Given the description of an element on the screen output the (x, y) to click on. 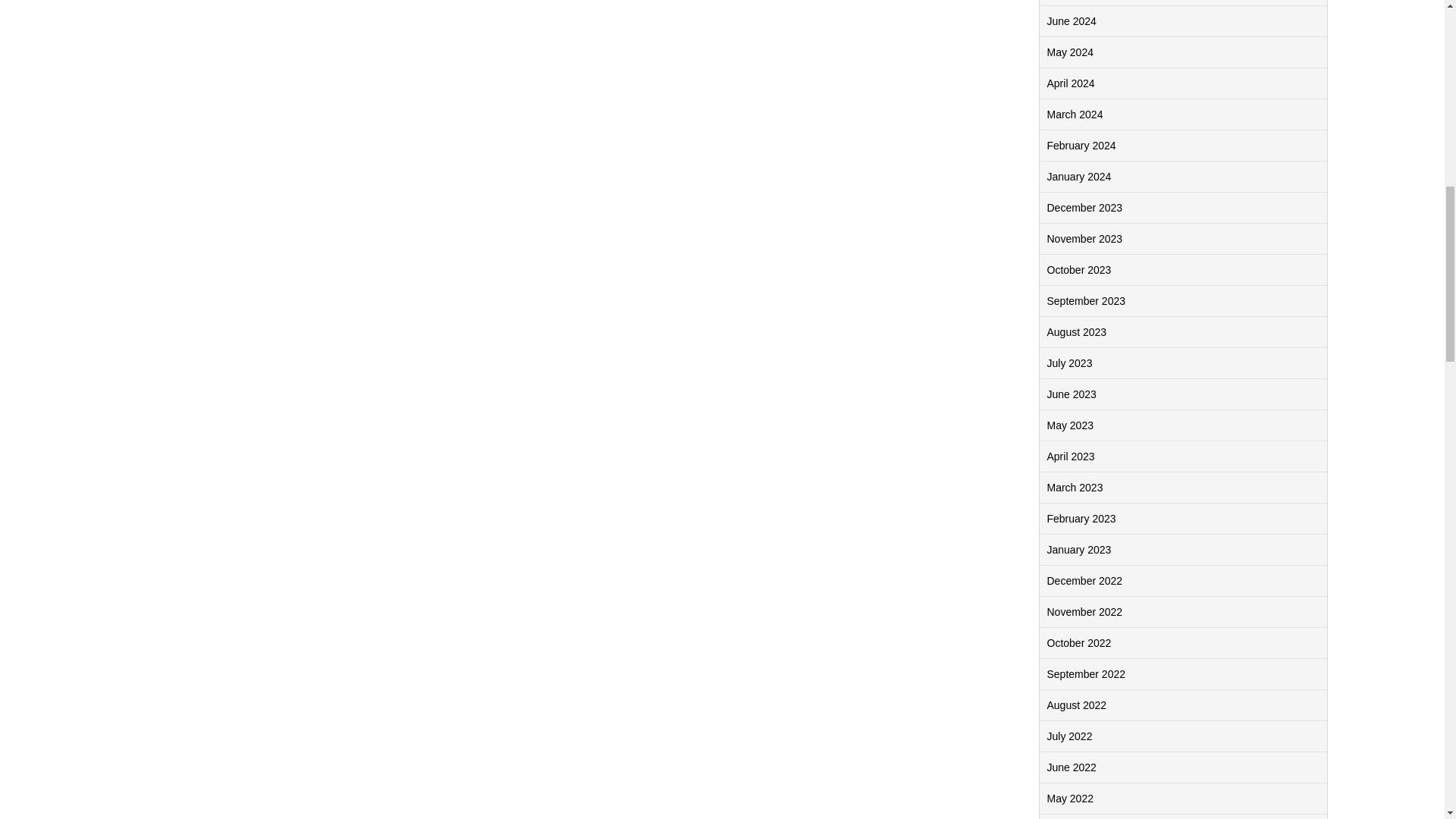
March 2024 (1074, 114)
March 2023 (1074, 487)
November 2023 (1084, 238)
November 2022 (1084, 612)
May 2024 (1069, 51)
February 2023 (1080, 518)
April 2024 (1070, 82)
September 2023 (1085, 300)
January 2023 (1078, 549)
December 2023 (1084, 207)
